Given the description of an element on the screen output the (x, y) to click on. 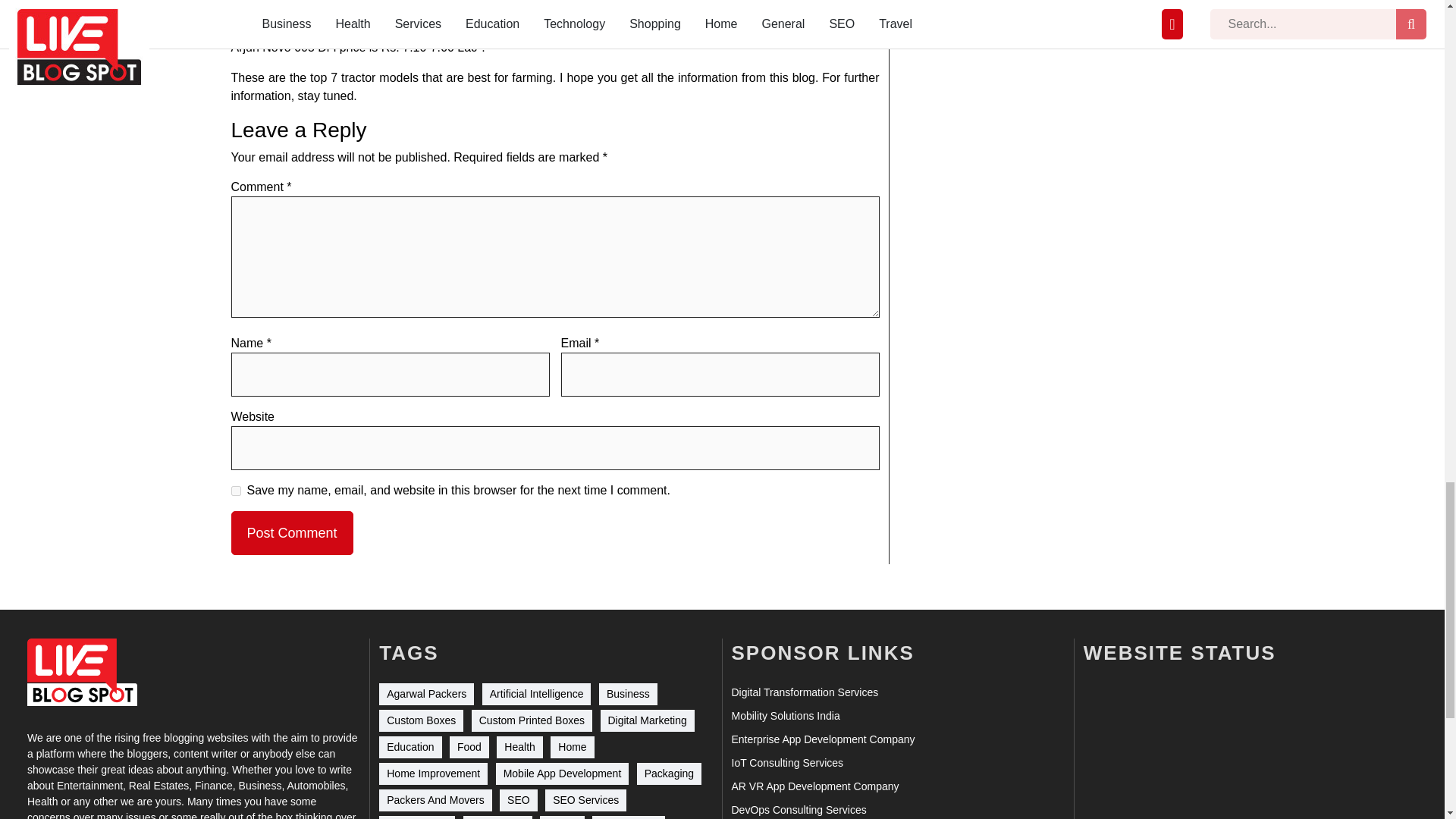
Post Comment (291, 533)
Enterprise App Development Company (822, 739)
yes (235, 491)
Live Blog Spot (81, 671)
IoT Consulting Services (786, 763)
Digital Transformation Services (803, 692)
Mobility Solutions India (785, 715)
AR VR App Development Company (814, 786)
Post Comment (291, 533)
